Given the description of an element on the screen output the (x, y) to click on. 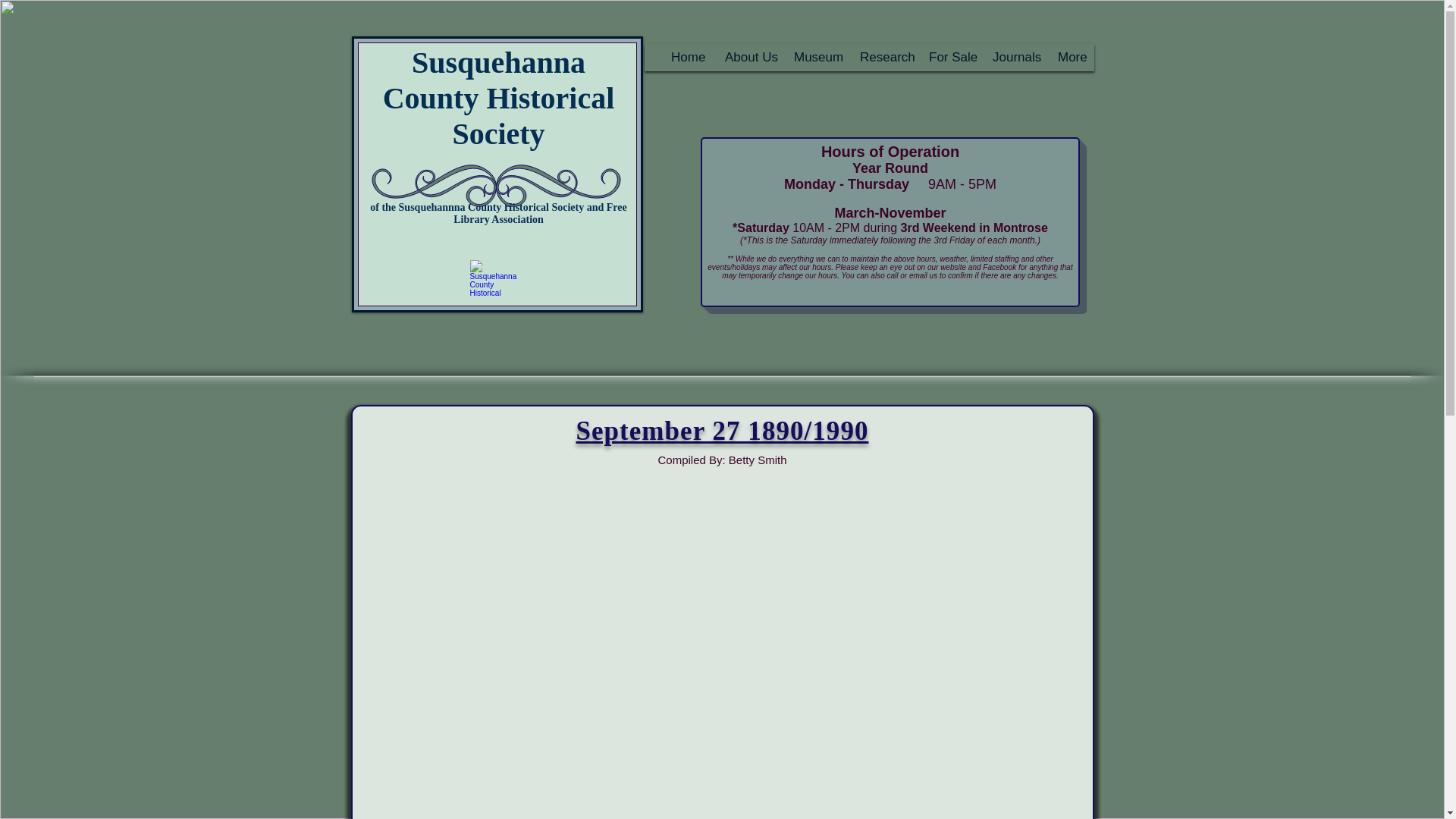
Museum (811, 57)
Home (683, 57)
Journals (1010, 57)
About Us (745, 57)
Susquehanna County Historical Society (498, 97)
For Sale (946, 57)
